Given the description of an element on the screen output the (x, y) to click on. 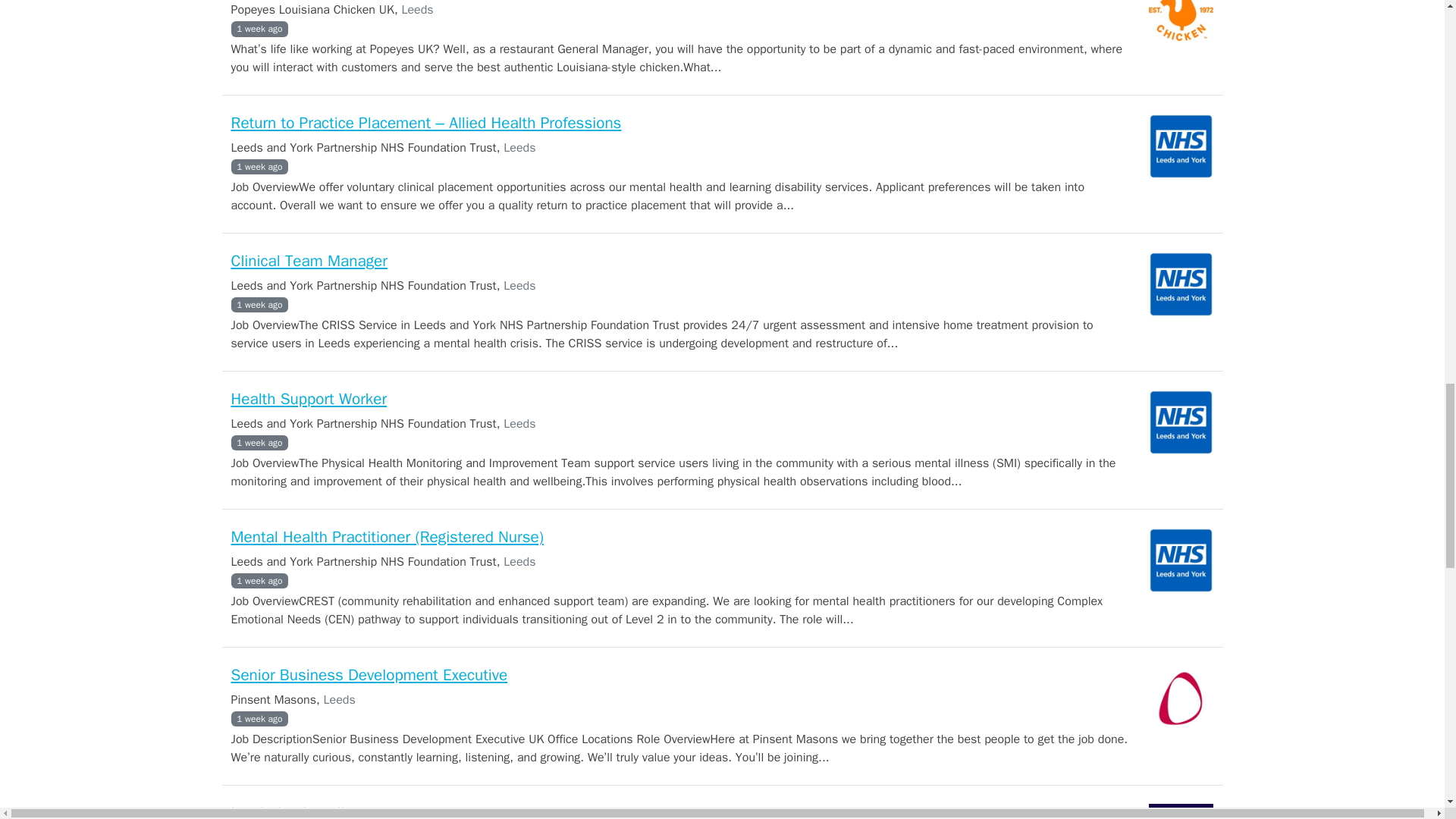
Insulation Installer (294, 811)
Health Support Worker (308, 398)
Clinical Team Manager (308, 260)
Senior Business Development Executive (368, 674)
